Given the description of an element on the screen output the (x, y) to click on. 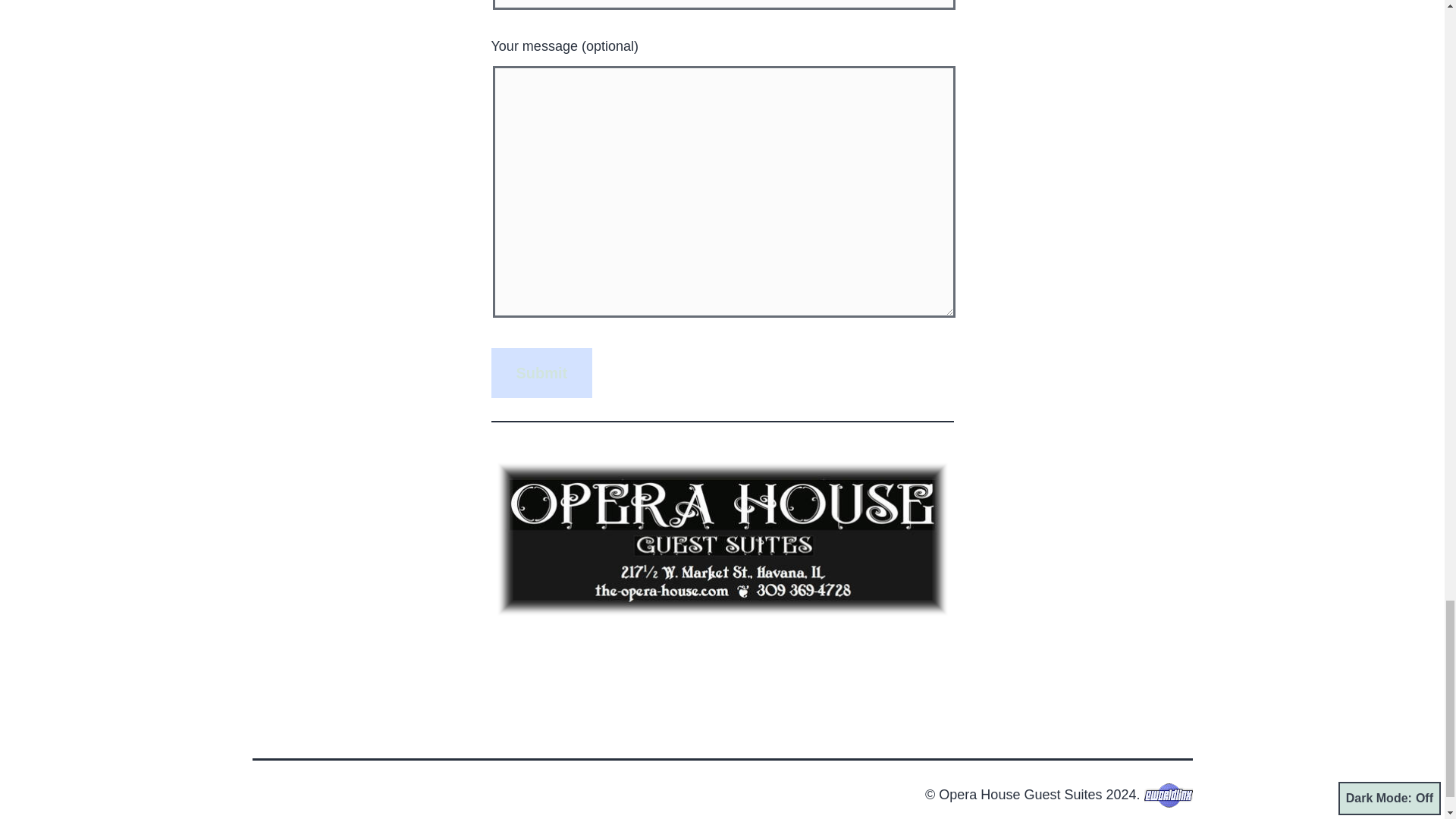
Submit (542, 373)
Submit (542, 373)
